Given the description of an element on the screen output the (x, y) to click on. 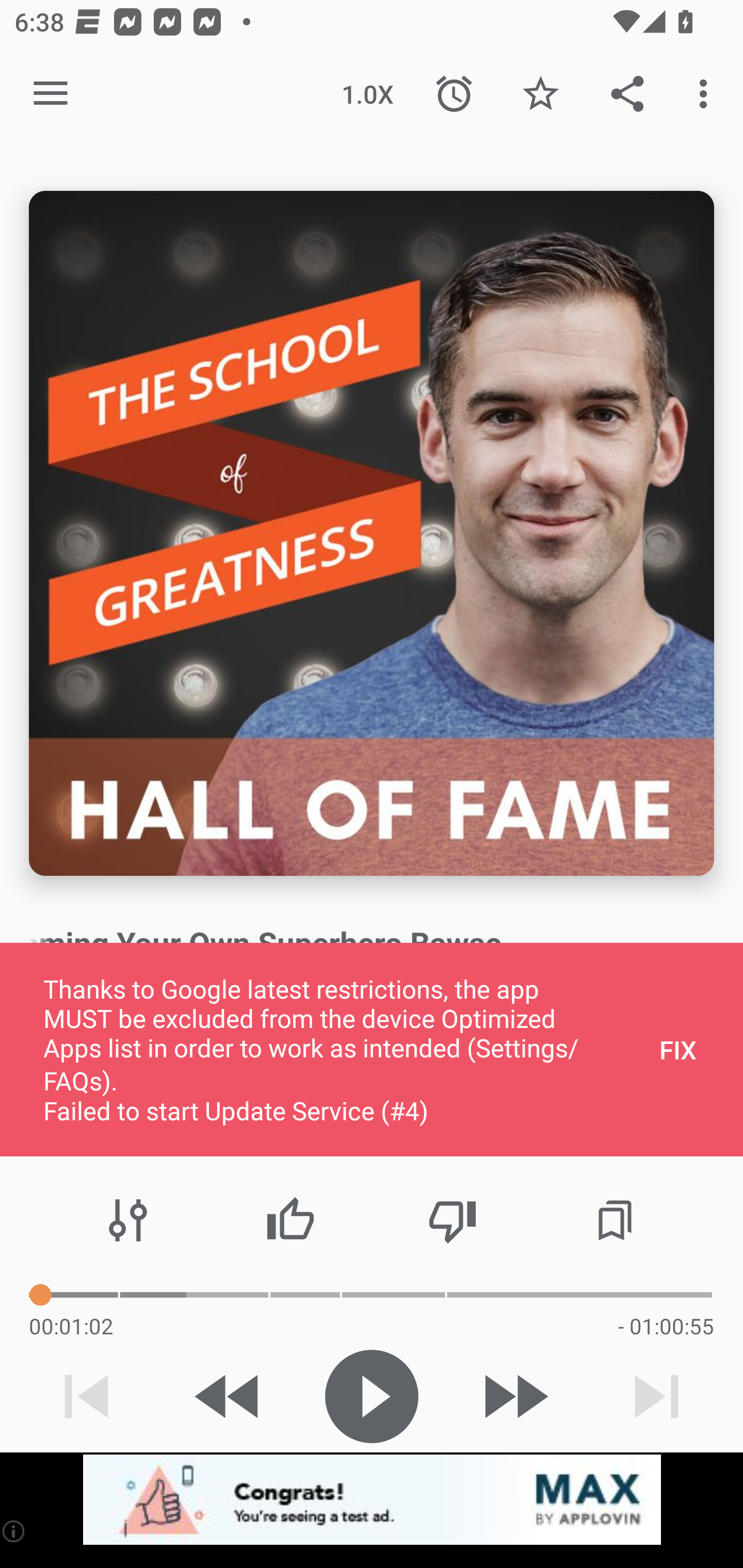
Open navigation sidebar (50, 93)
1.0X (366, 93)
Sleep Timer (453, 93)
Favorite (540, 93)
Share (626, 93)
More options (706, 93)
Episode description (371, 533)
FIX (677, 1049)
Audio effects (127, 1220)
Thumbs up (290, 1220)
Thumbs down (452, 1220)
Chapters / Bookmarks (614, 1220)
- 01:00:55 (666, 1325)
Previous track (86, 1395)
Skip 15s backward (228, 1395)
Play / Pause (371, 1395)
Skip 30s forward (513, 1395)
Next track (656, 1395)
app-monetization (371, 1500)
(i) (14, 1531)
